Given the description of an element on the screen output the (x, y) to click on. 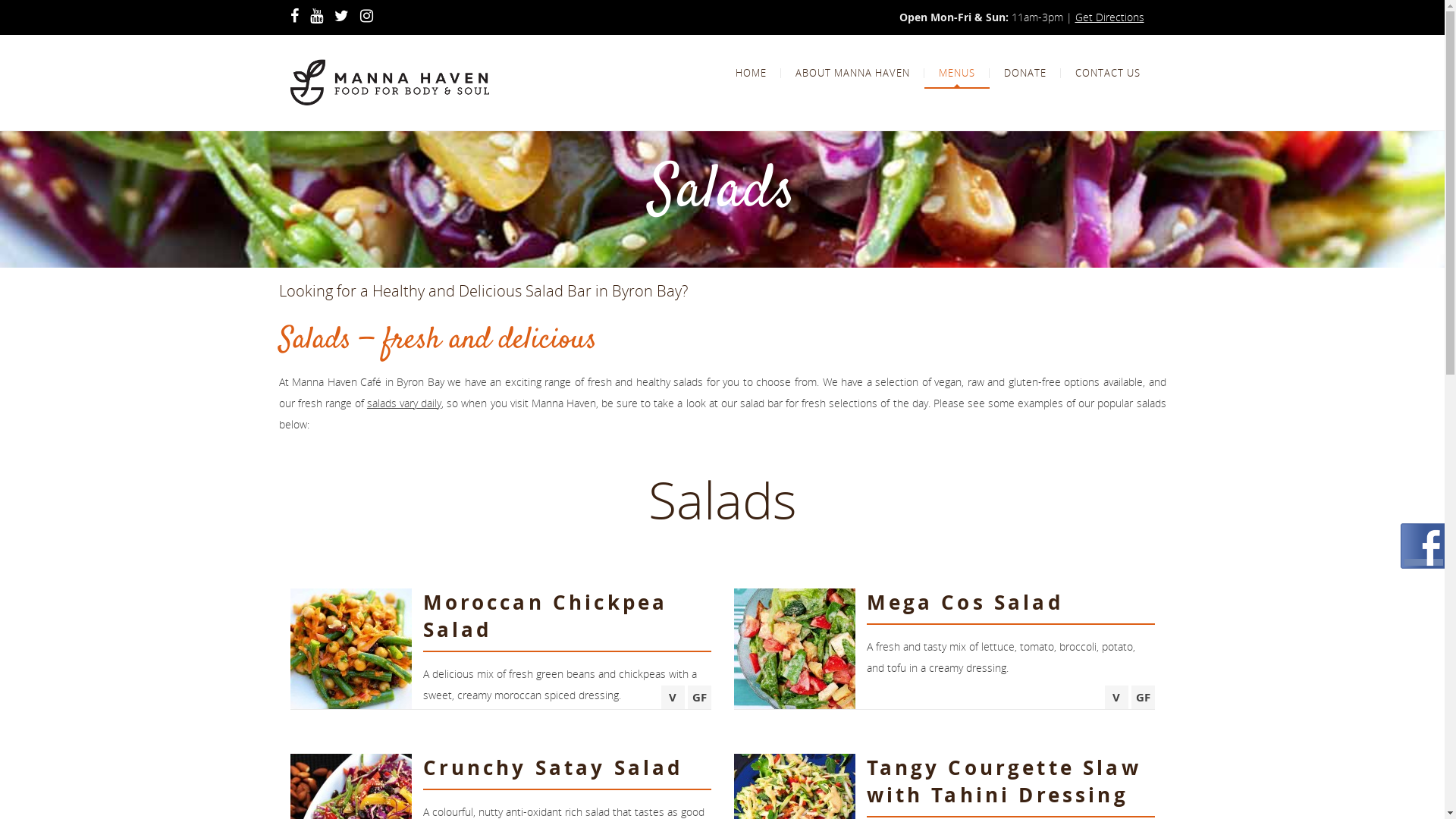
MENUS Element type: text (955, 72)
HOME Element type: text (750, 72)
Get Directions Element type: text (1109, 16)
DONATE Element type: text (1024, 72)
ABOUT MANNA HAVEN Element type: text (852, 72)
CONTACT US Element type: text (1107, 72)
